Given the description of an element on the screen output the (x, y) to click on. 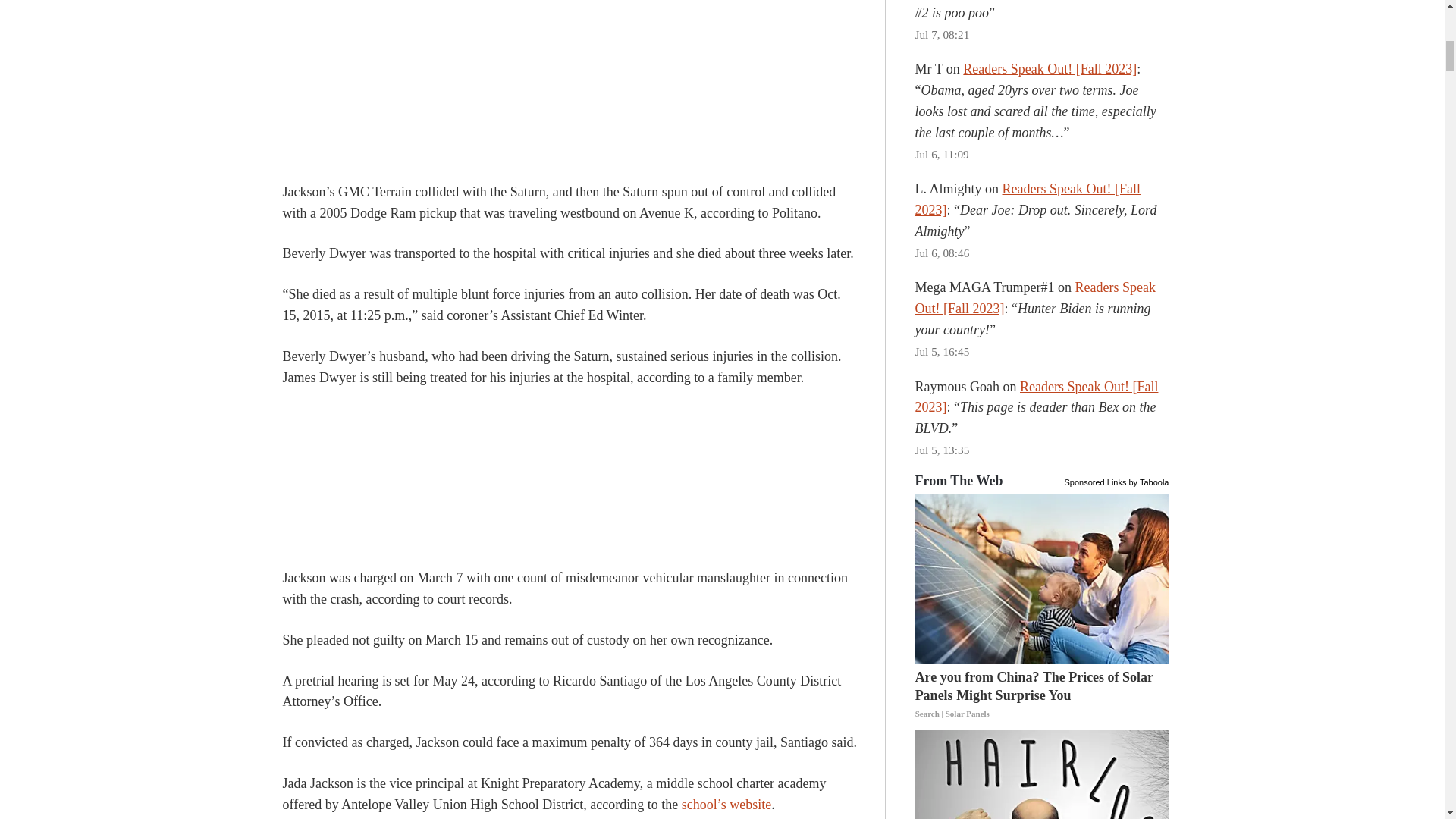
Advertisement (569, 480)
Advertisement (569, 94)
